Given the description of an element on the screen output the (x, y) to click on. 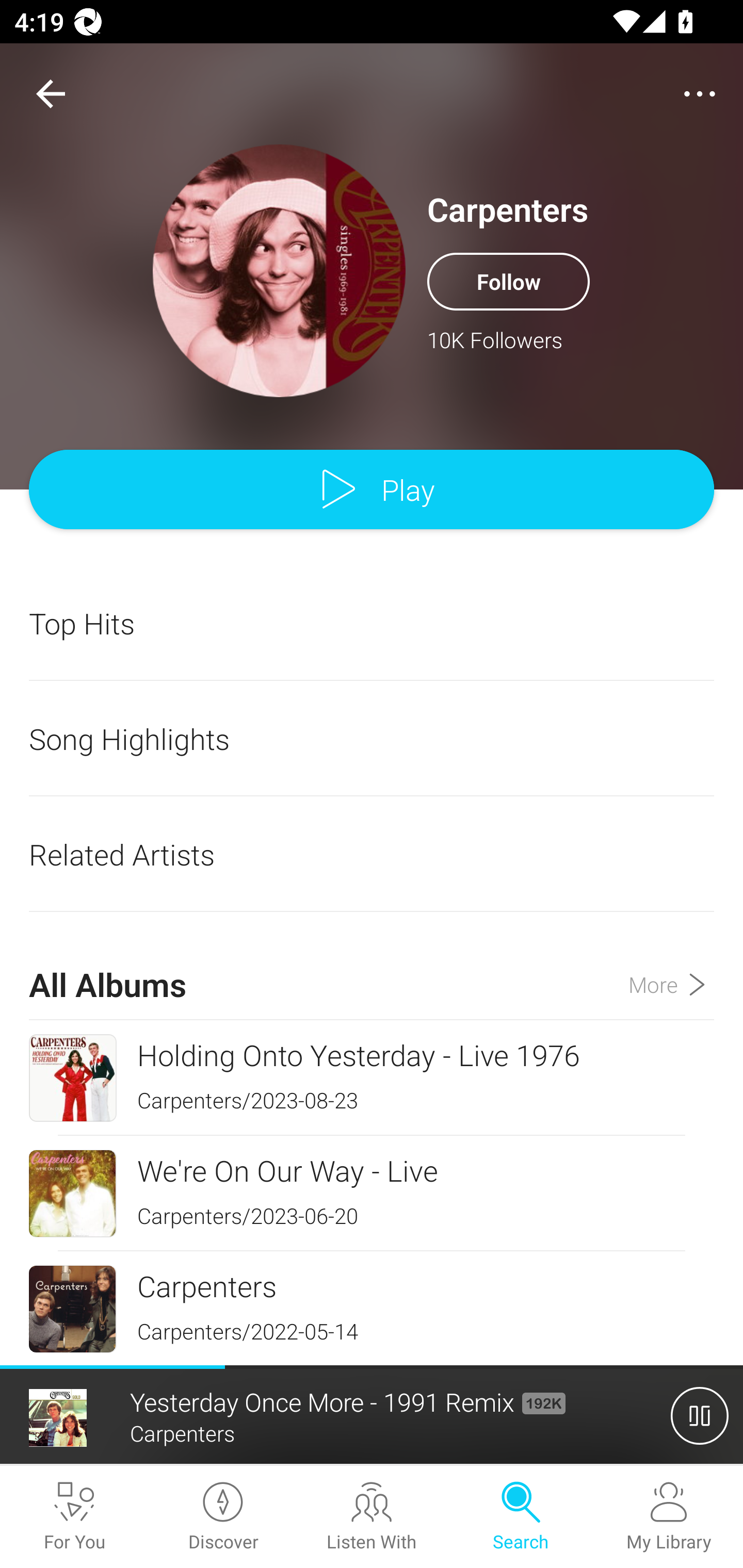
overflow (699, 93)
view_artist_avatar (279, 270)
Follow button_subscription (508, 281)
Play (371, 489)
Top Hits (371, 623)
Song Highlights (371, 738)
Related Artists (371, 854)
All Albums More (371, 966)
We're On Our Way - Live Carpenters/2023-06-20 (371, 1193)
Carpenters Carpenters/2022-05-14 (371, 1308)
暫停播放 (699, 1415)
For You (74, 1517)
Discover (222, 1517)
Listen With (371, 1517)
Search (519, 1517)
My Library (668, 1517)
